Given the description of an element on the screen output the (x, y) to click on. 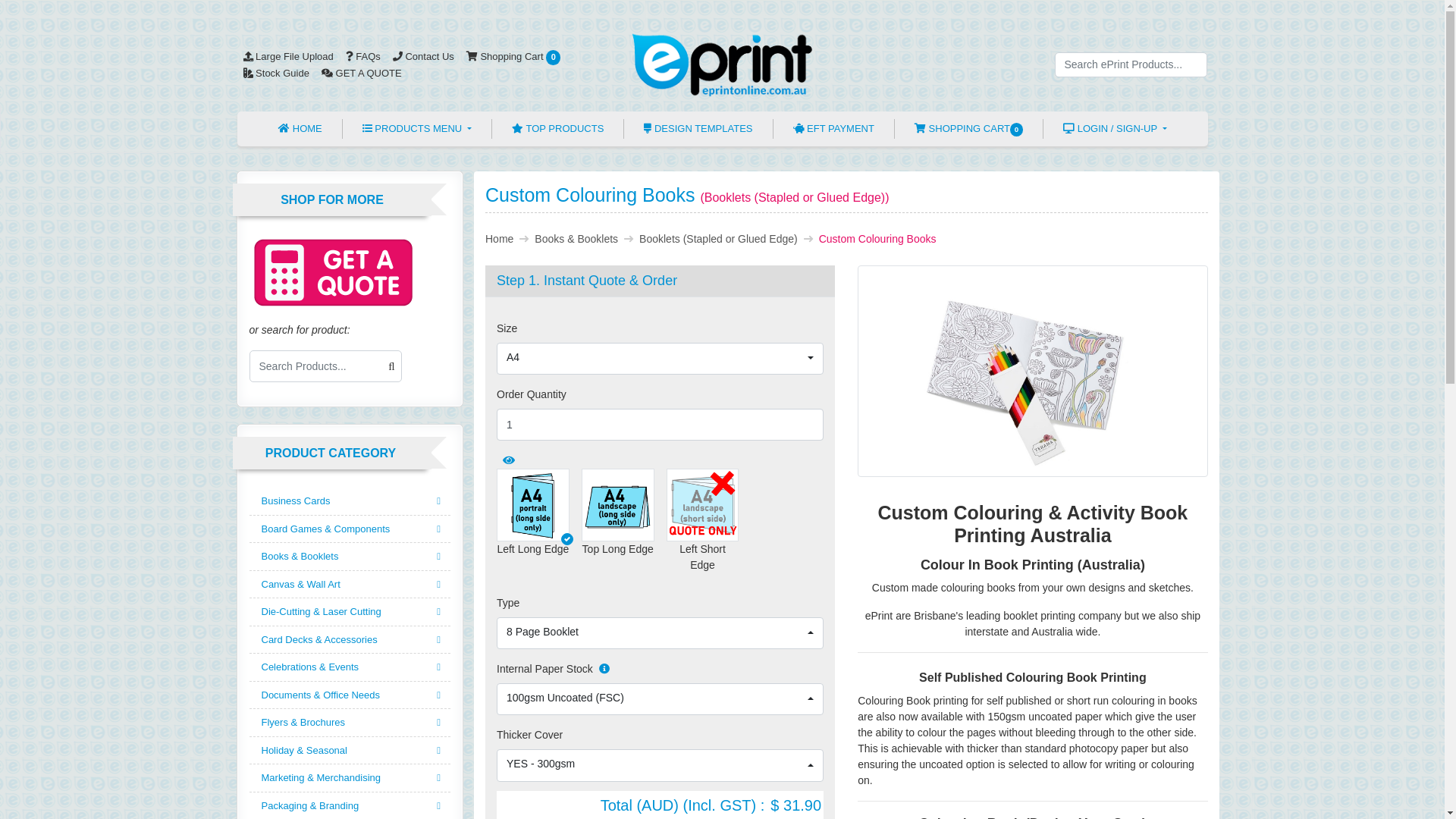
FAQs Element type: text (362, 56)
<i class='fal fa-unlock pr-1'></i> Login Element type: text (1080, 150)
Flyers & Brochures Element type: text (349, 723)
LOGIN / SIGN-UP Element type: text (1115, 128)
Celebrations & Events Element type: text (349, 667)
8 Page Booklet Element type: text (659, 633)
TOP PRODUCTS Element type: text (557, 128)
Card Decks & Accessories Element type: text (349, 640)
HOME Element type: text (300, 128)
Custom Colouring Books Element type: hover (1032, 370)
DESIGN TEMPLATES Element type: text (697, 128)
GET A QUOTE Element type: text (361, 72)
Documents & Office Needs Element type: text (349, 695)
Booklets (Stapled or Glued Edge) Element type: text (718, 238)
Books & Booklets Element type: text (349, 556)
Holiday & Seasonal Element type: text (349, 751)
Home Element type: text (499, 238)
Shopping Cart 0 Element type: text (513, 56)
Marketing & Merchandising Element type: text (349, 778)
Contact Us Element type: text (423, 56)
YES - 300gsm Element type: text (659, 765)
Die-Cutting & Laser Cutting Element type: text (349, 612)
Stock Guide Element type: text (275, 72)
Board Games & Components Element type: text (349, 529)
SHOPPING CART0 Element type: text (968, 128)
100gsm Uncoated (FSC) Element type: text (659, 699)
Large File Upload Element type: text (287, 56)
A4 Element type: text (659, 358)
Business Cards Element type: text (349, 501)
EFT PAYMENT Element type: text (833, 128)
PRODUCTS MENU Element type: text (416, 128)
Canvas & Wall Art Element type: text (349, 585)
Books & Booklets Element type: text (576, 238)
